Given the description of an element on the screen output the (x, y) to click on. 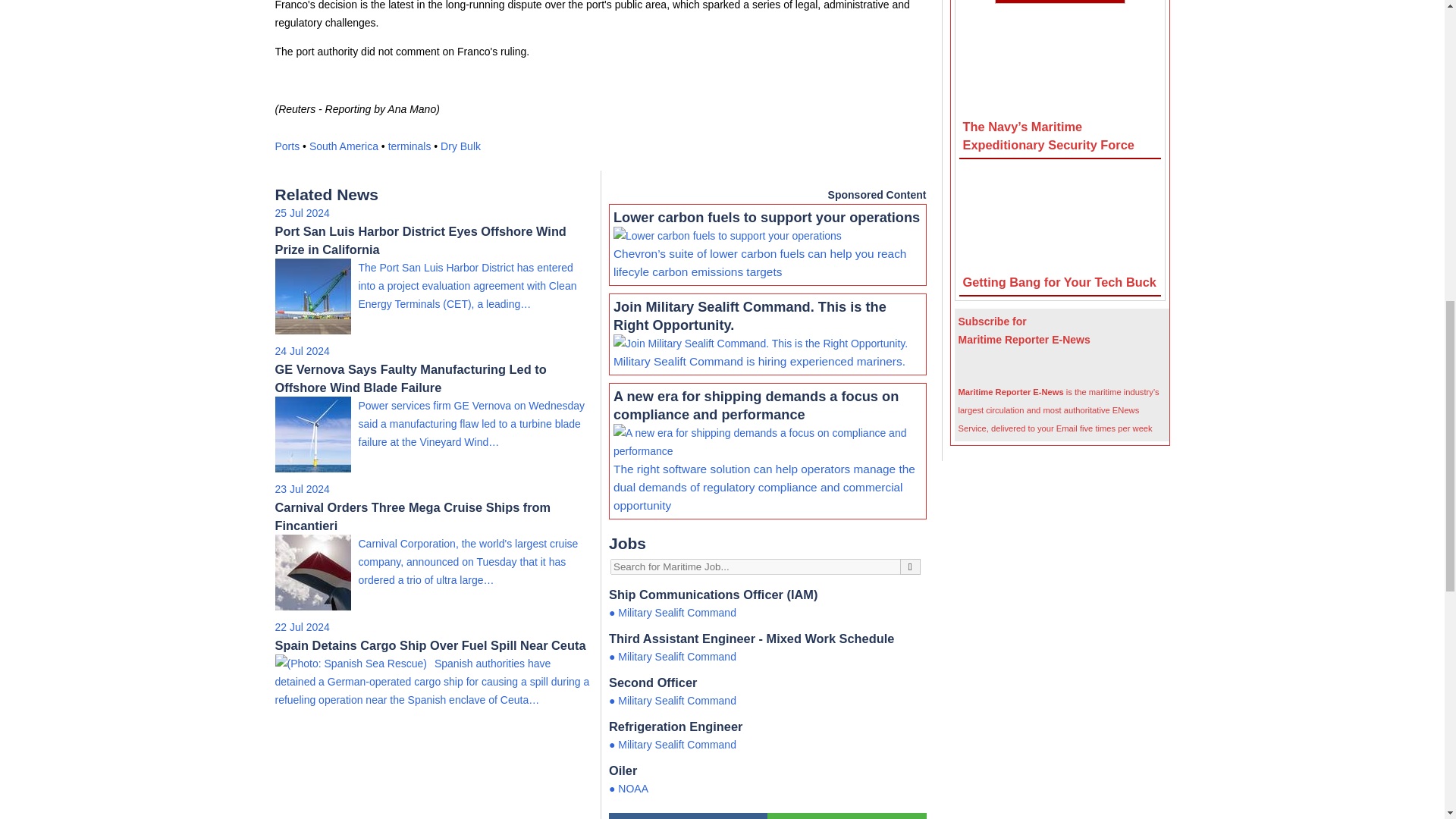
terminals (409, 146)
Post Resume (687, 816)
Subscribe (1064, 365)
South America (343, 146)
Ports (287, 146)
Dry Bulk (460, 146)
